Given the description of an element on the screen output the (x, y) to click on. 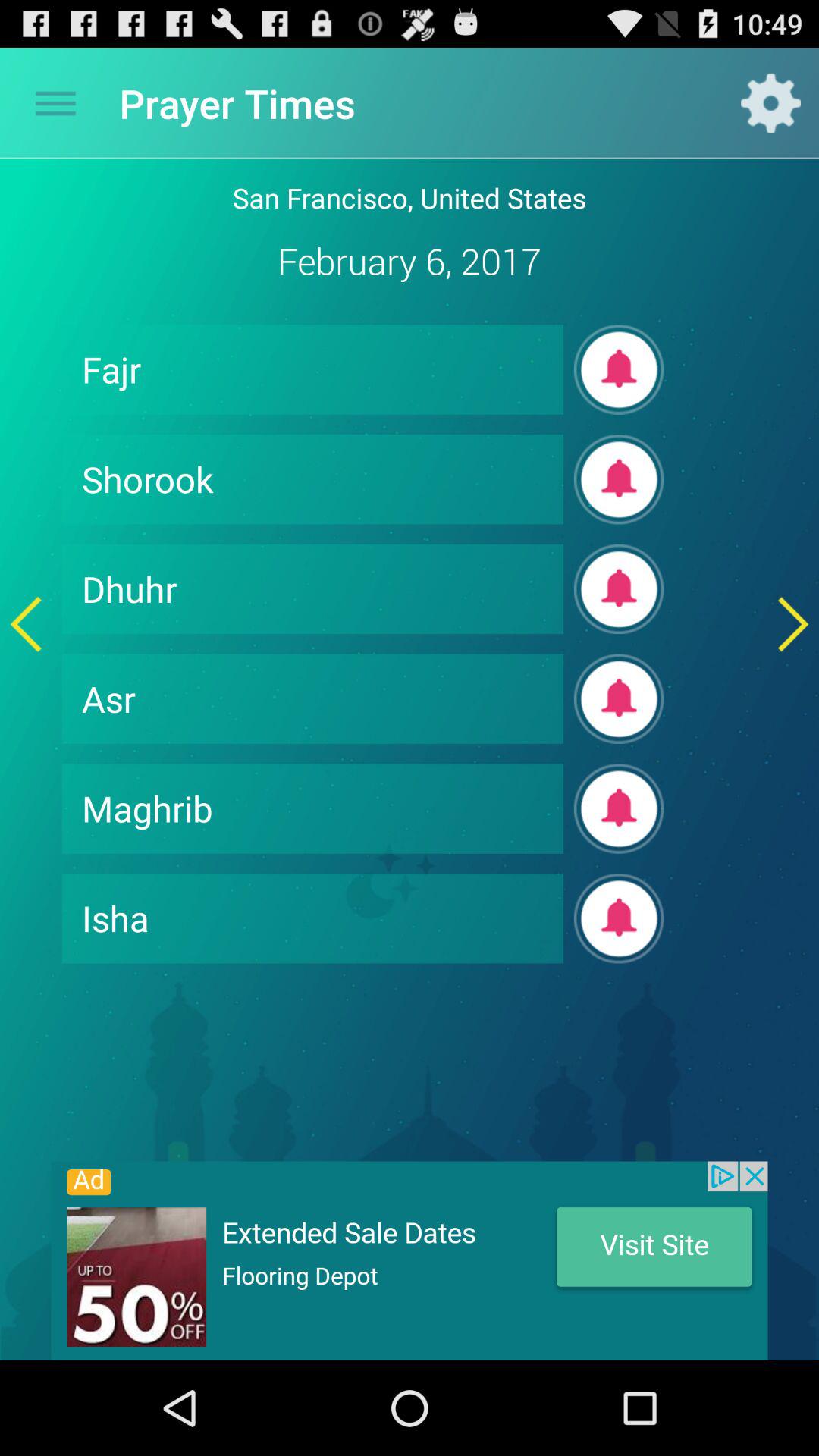
bell (618, 589)
